Given the description of an element on the screen output the (x, y) to click on. 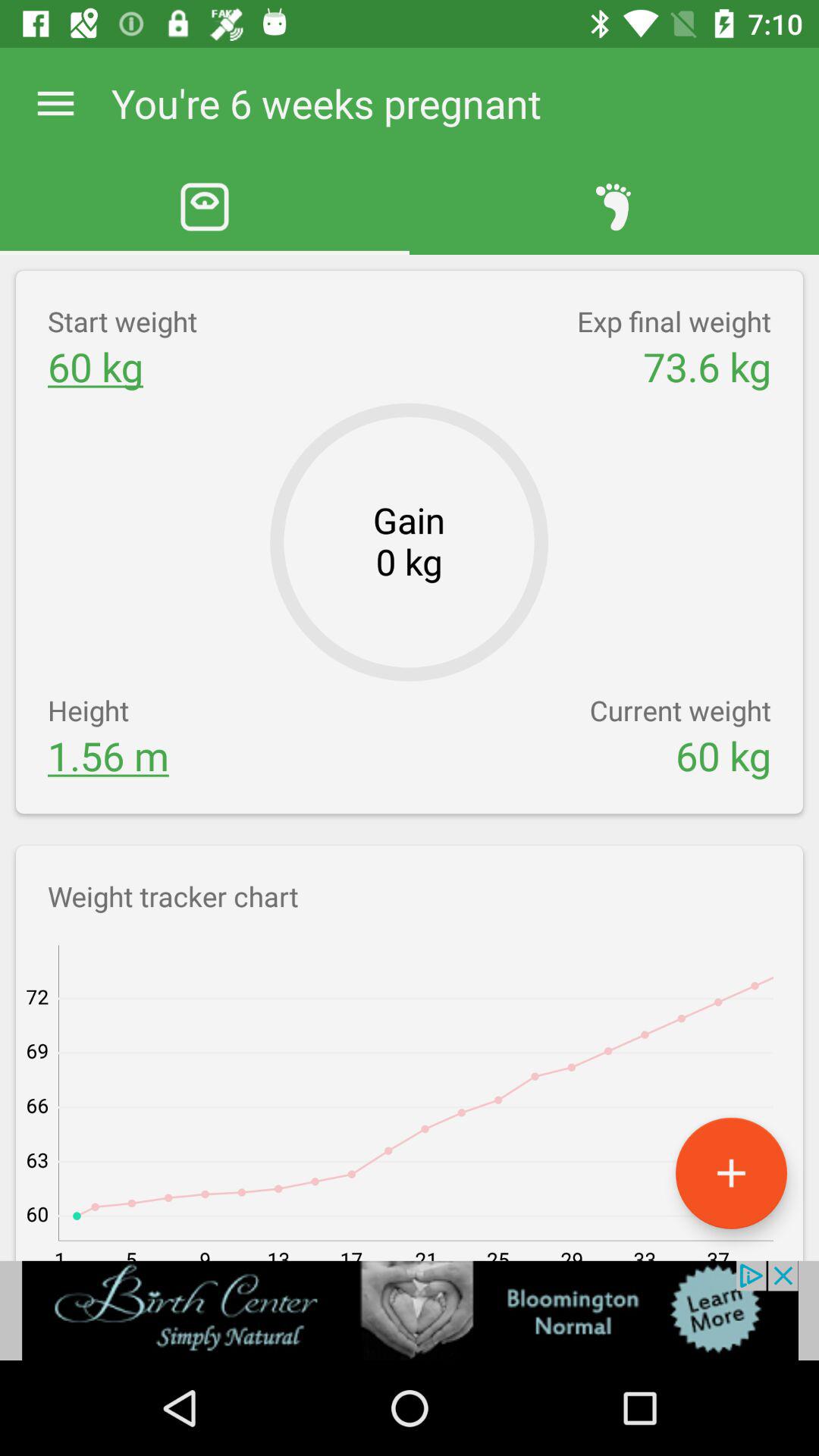
view advertisement (409, 1310)
